Given the description of an element on the screen output the (x, y) to click on. 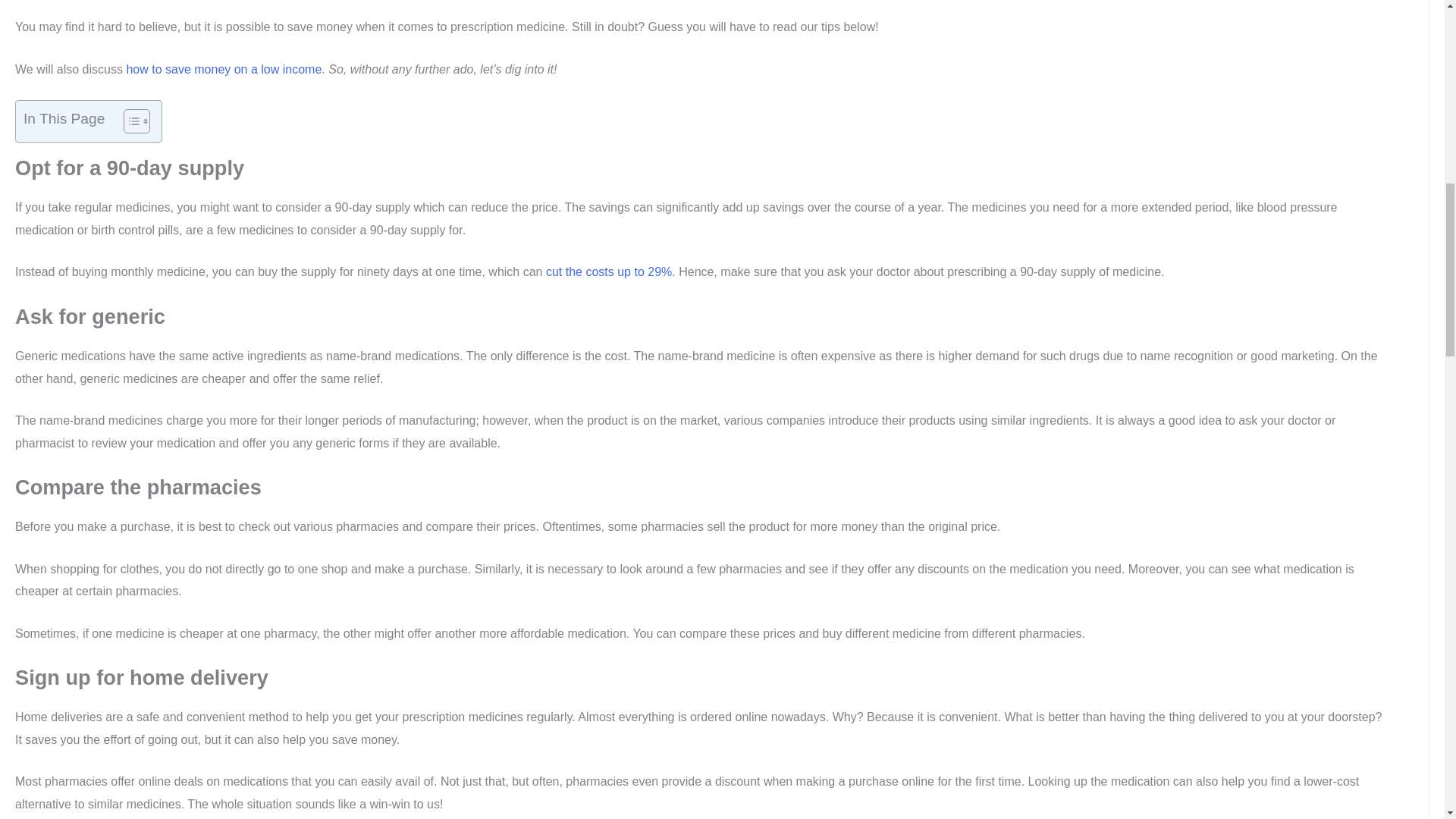
how to save money on a low income (223, 69)
